Given the description of an element on the screen output the (x, y) to click on. 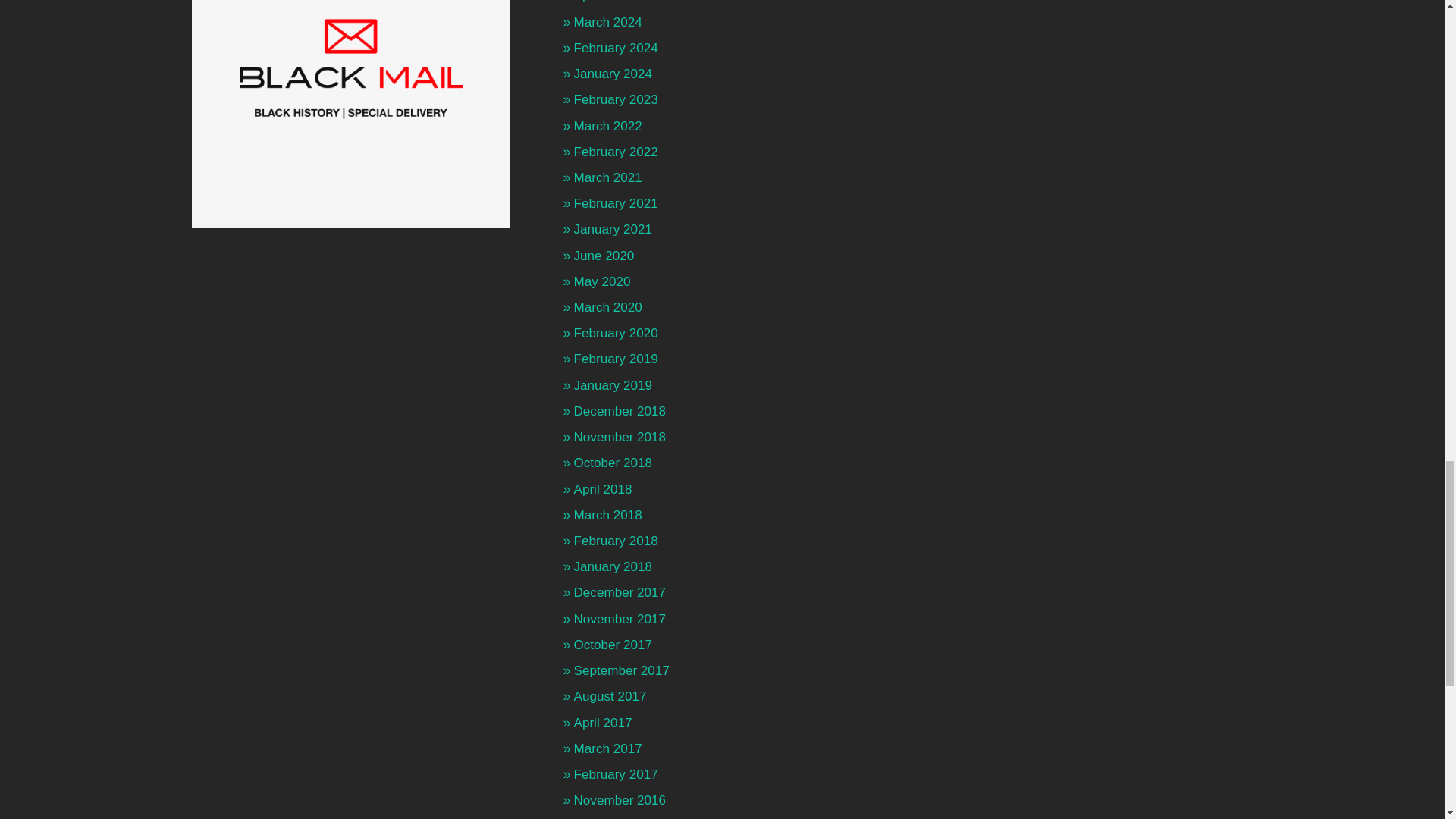
May 2020 (601, 281)
February 2022 (615, 151)
April 2024 (602, 1)
January 2024 (612, 73)
March 2024 (607, 22)
June 2020 (603, 255)
January 2021 (612, 228)
February 2021 (615, 203)
March 2020 (607, 307)
March 2021 (607, 177)
